Given the description of an element on the screen output the (x, y) to click on. 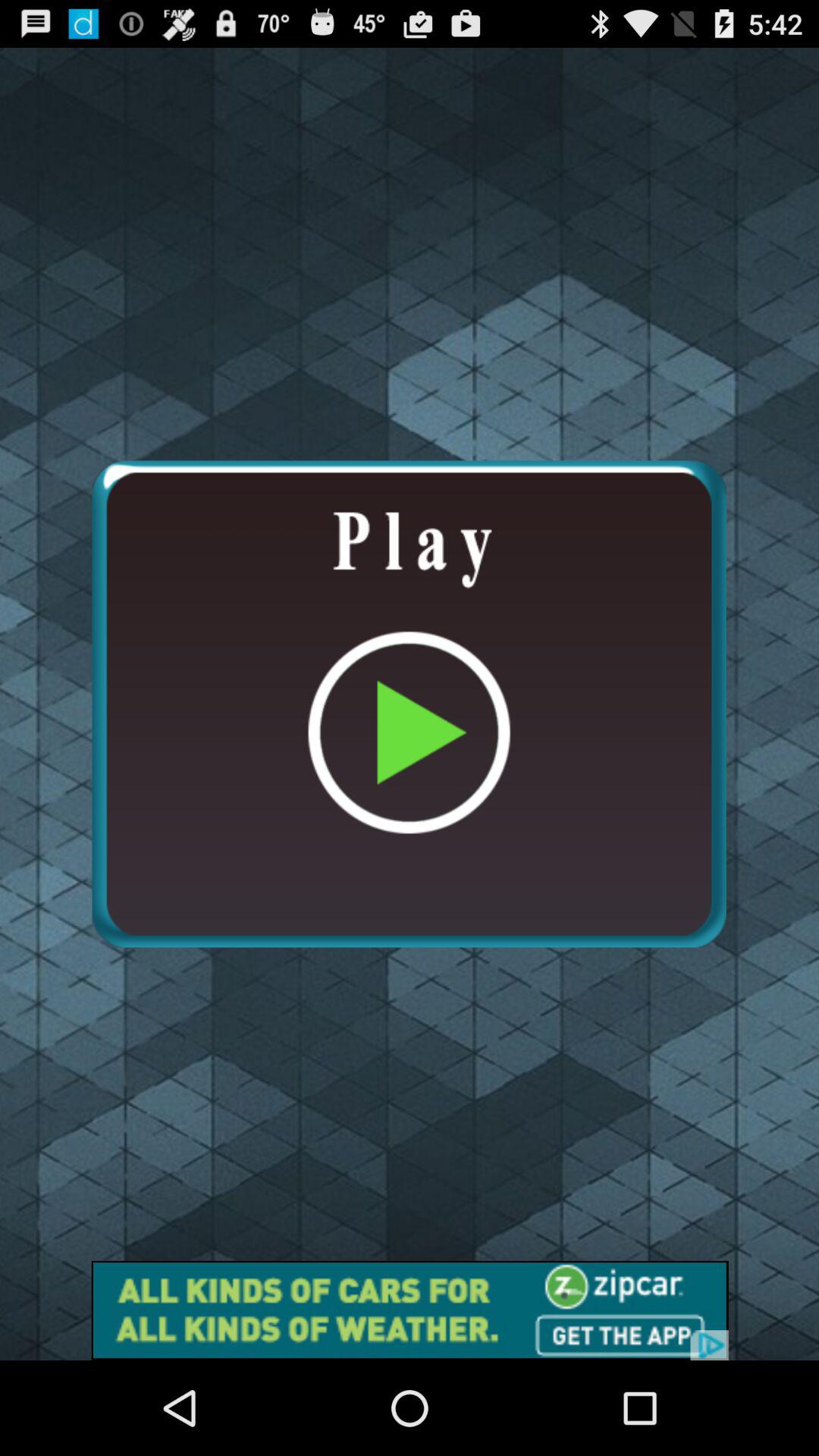
advertisement (409, 1310)
